Given the description of an element on the screen output the (x, y) to click on. 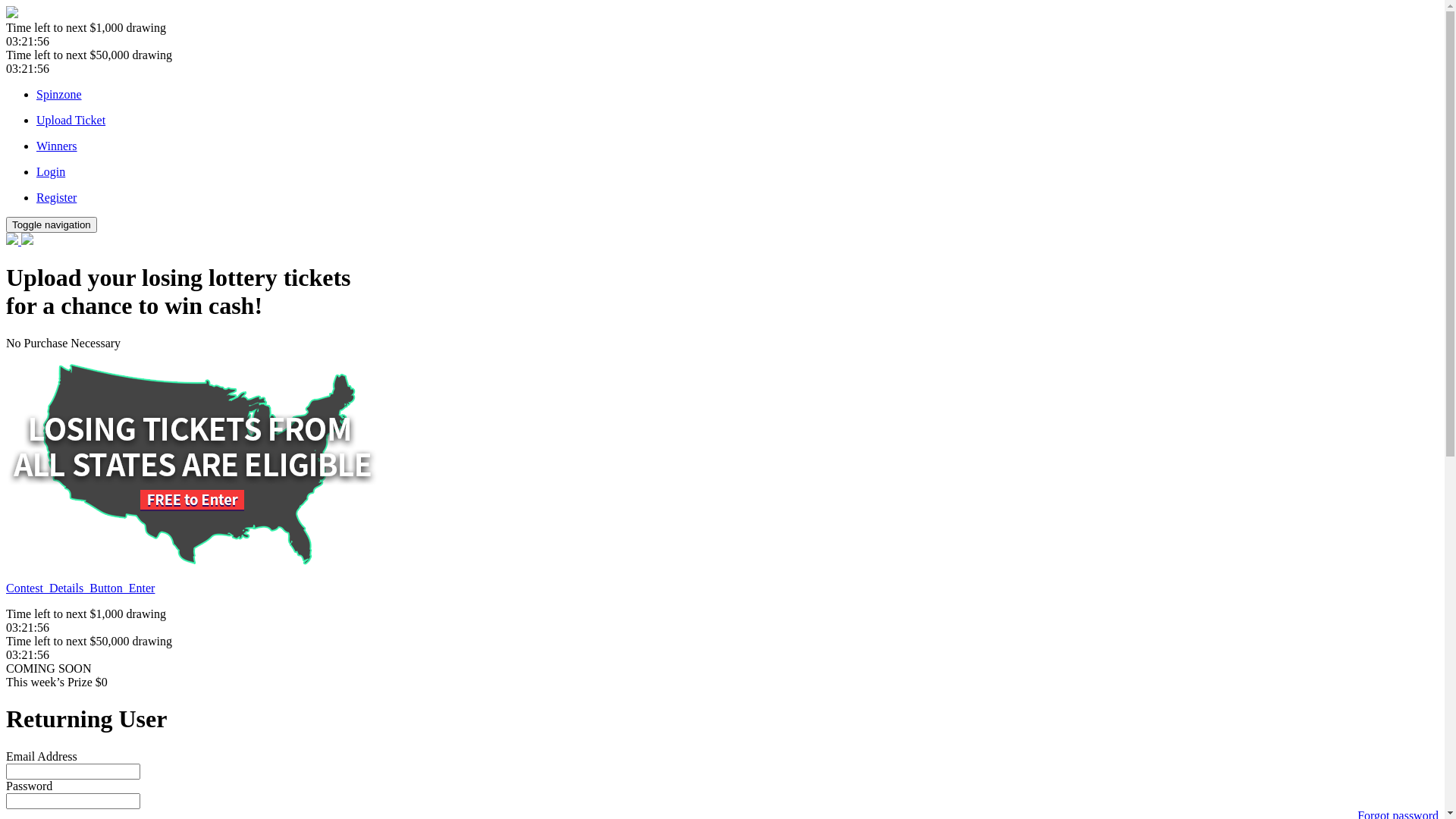
Spinzone Element type: text (58, 93)
Login Element type: text (737, 171)
Winners Element type: text (737, 146)
Register Element type: text (737, 197)
Toggle navigation Element type: text (51, 224)
Contest_Details_Button_Enter Element type: text (80, 587)
Upload Ticket Element type: text (737, 120)
